Given the description of an element on the screen output the (x, y) to click on. 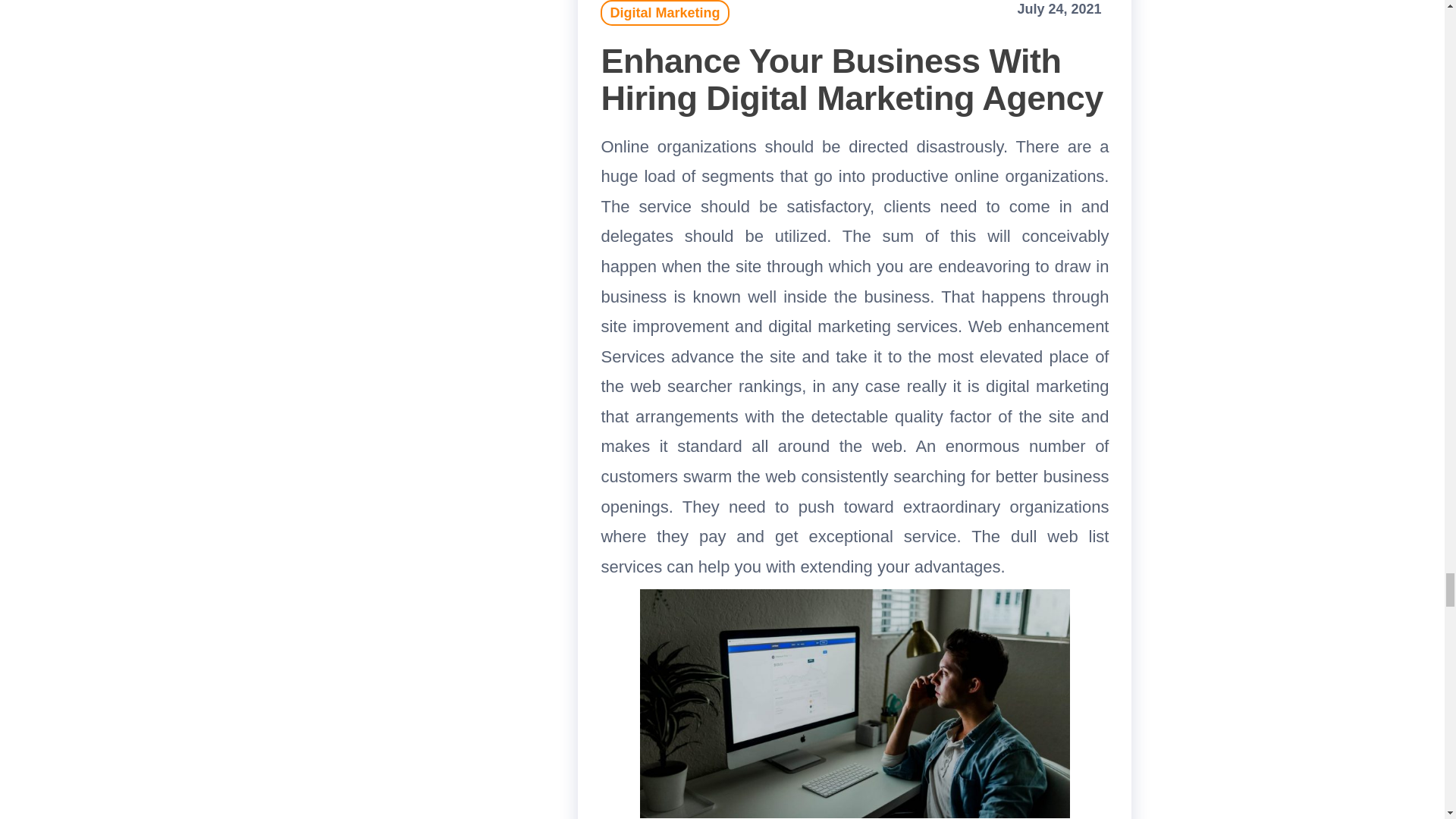
Digital Marketing (664, 12)
Enhance Your Business With Hiring Digital Marketing Agency (850, 79)
